Given the description of an element on the screen output the (x, y) to click on. 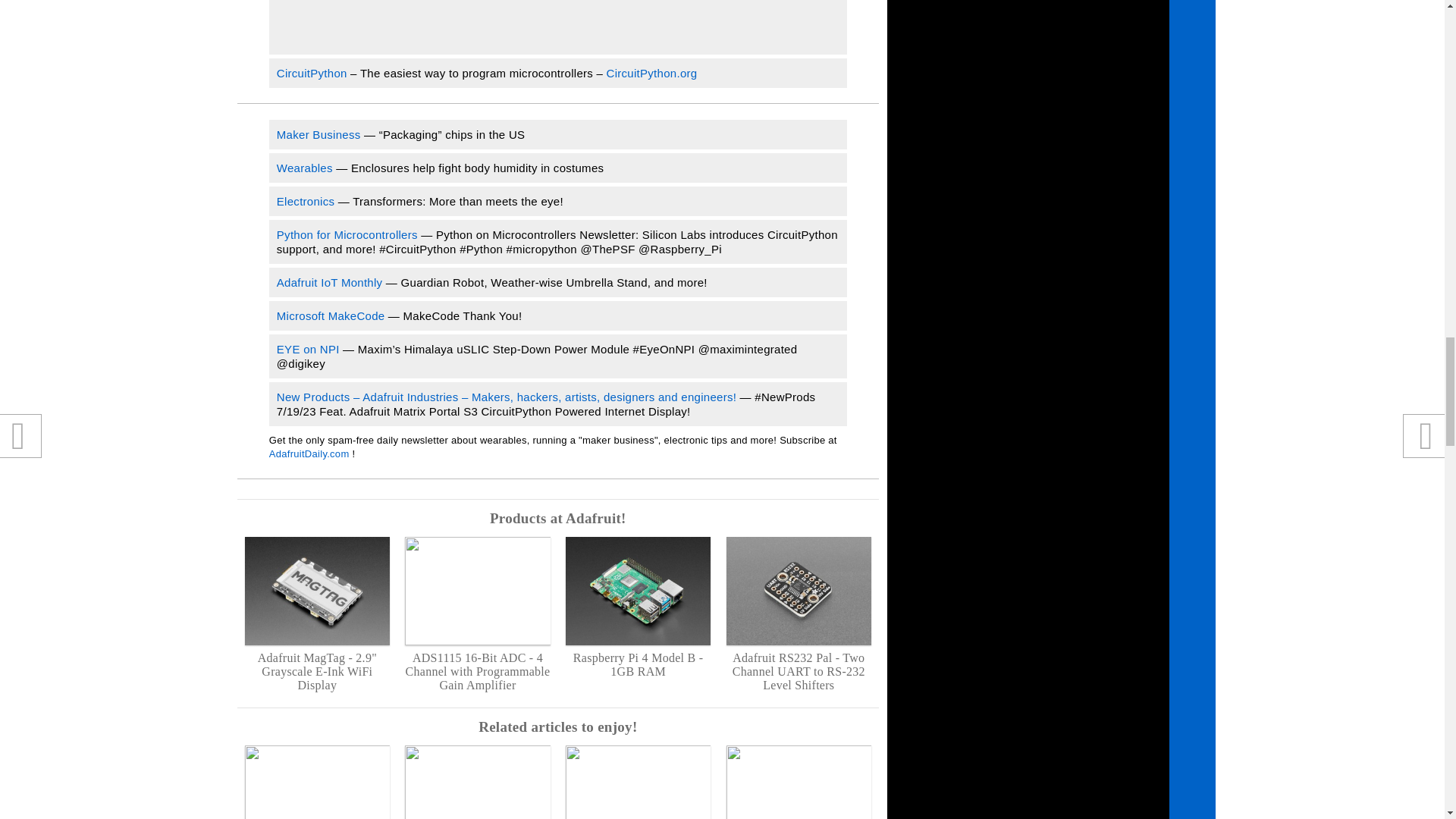
Tutorial: Applying solder paste with stencils (638, 782)
Adafruit MagTag - 2.9" Grayscale E-Ink WiFi Display (317, 614)
Raspberry Pi 4 Model B - 1GB RAM (638, 608)
